Given the description of an element on the screen output the (x, y) to click on. 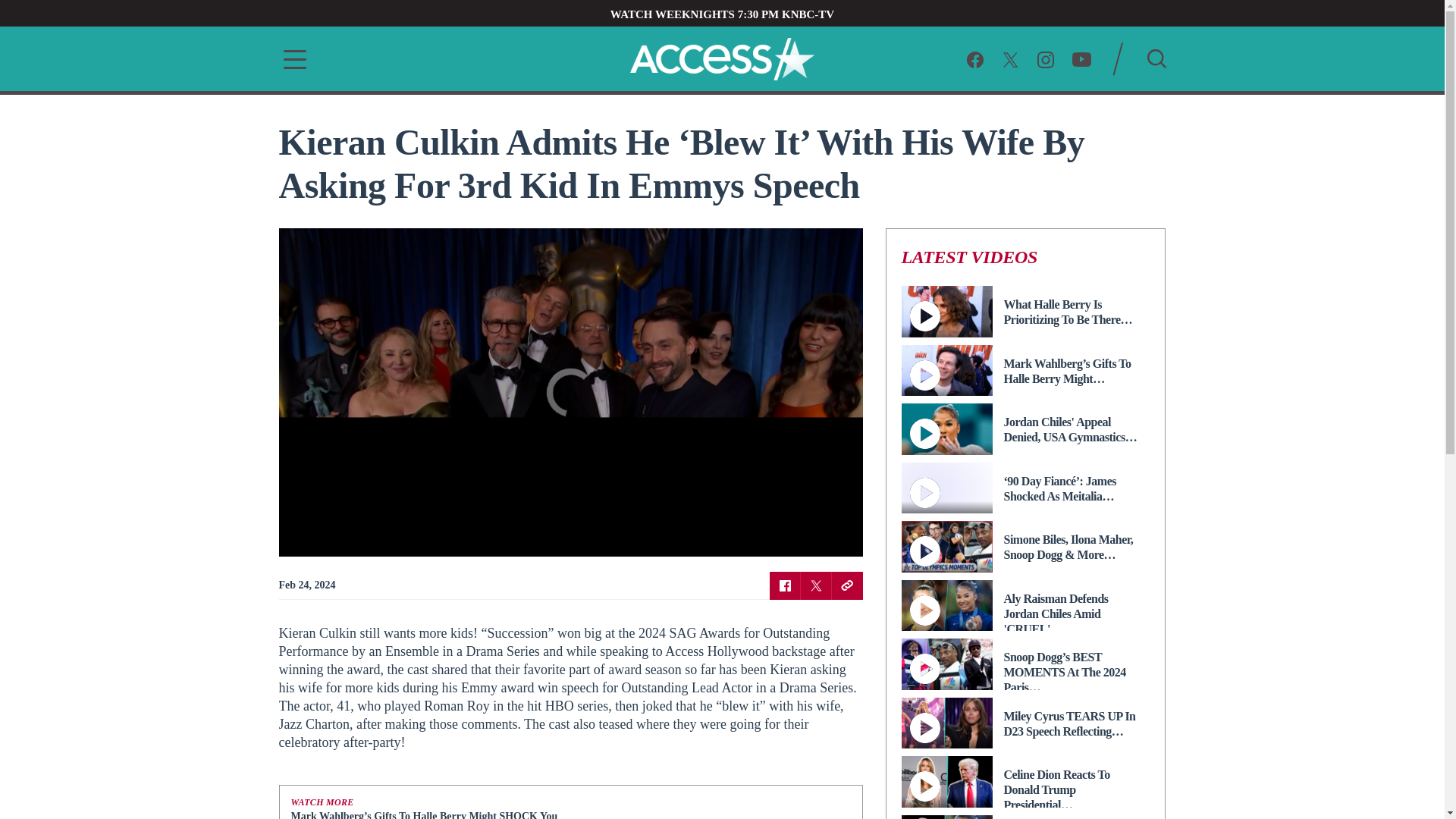
Facebook (975, 58)
Instagram (1045, 58)
Twitter (815, 584)
Facebook (783, 584)
Main navigation (290, 59)
Copy URL (846, 584)
Twitter (1010, 58)
SEARCH (1156, 58)
Youtube (1080, 58)
